Given the description of an element on the screen output the (x, y) to click on. 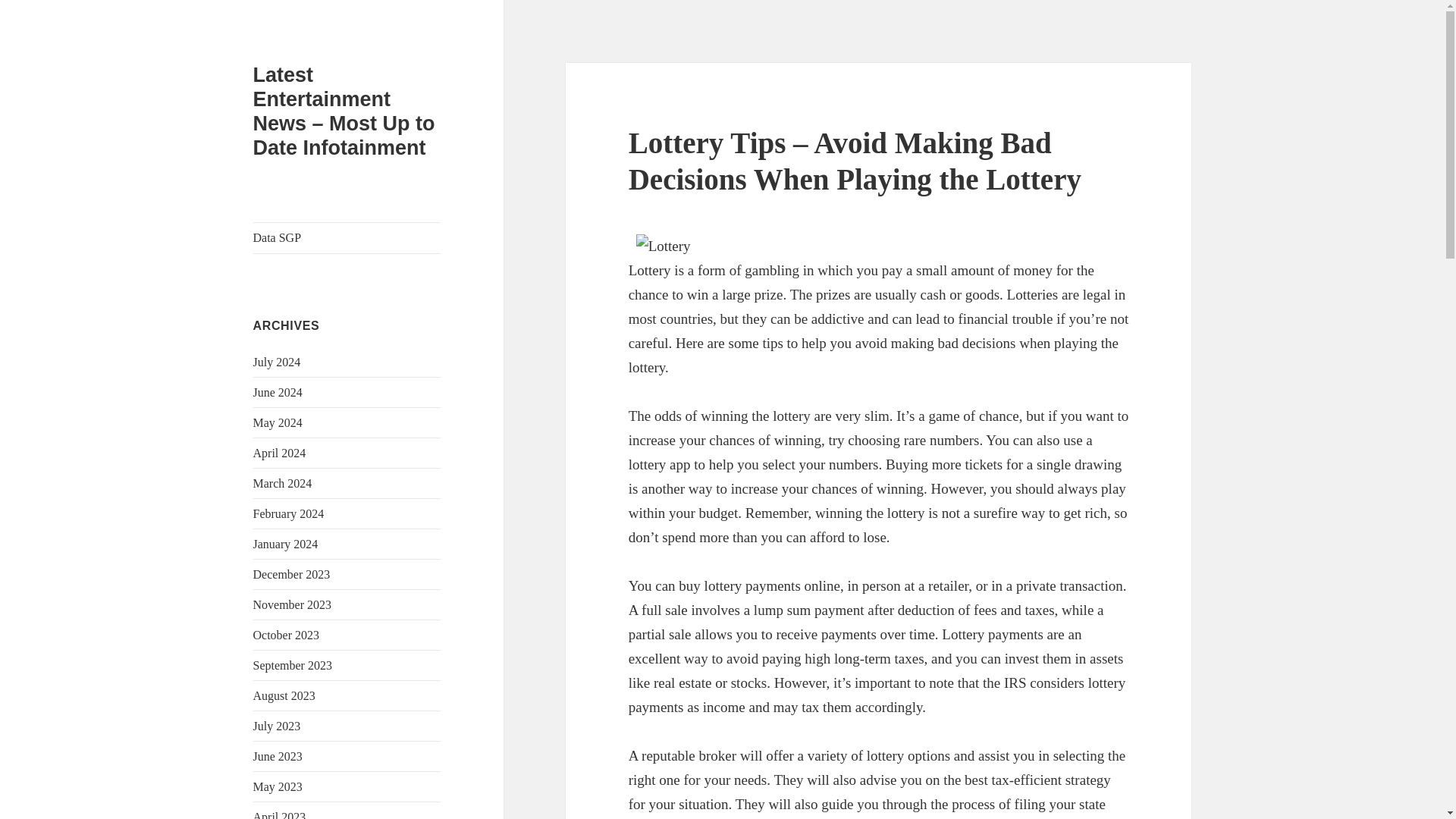
June 2023 (277, 756)
October 2023 (286, 634)
September 2023 (292, 665)
May 2024 (277, 422)
March 2024 (283, 482)
January 2024 (285, 543)
June 2024 (277, 391)
December 2023 (291, 574)
November 2023 (292, 604)
April 2024 (279, 452)
April 2023 (279, 814)
May 2023 (277, 786)
August 2023 (284, 695)
Data SGP (347, 237)
July 2024 (277, 361)
